Given the description of an element on the screen output the (x, y) to click on. 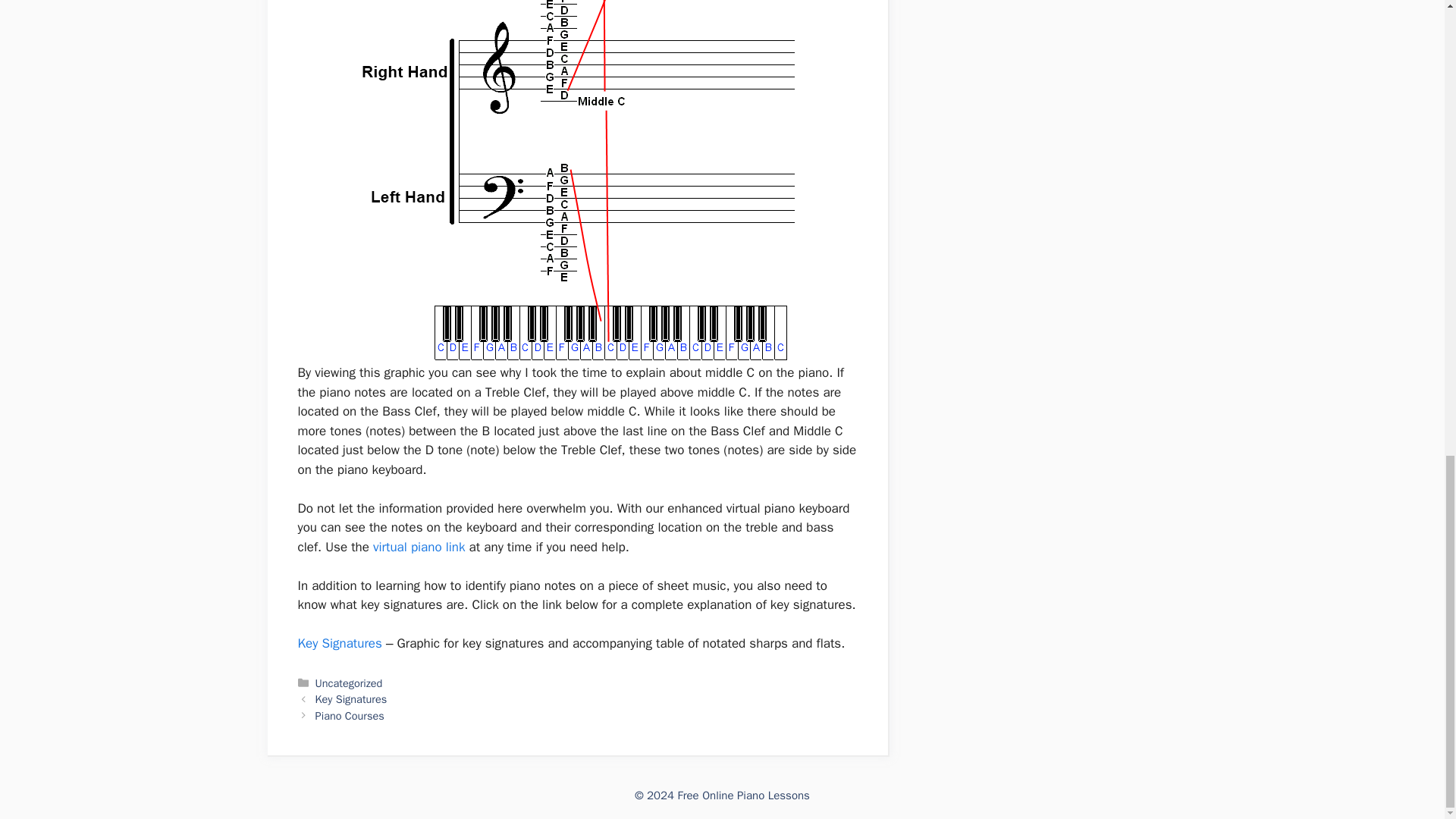
virtual piano link (418, 546)
Key Signatures (339, 643)
Key Signatures (351, 698)
Uncategorized (348, 683)
Piano Courses (349, 715)
